Given the description of an element on the screen output the (x, y) to click on. 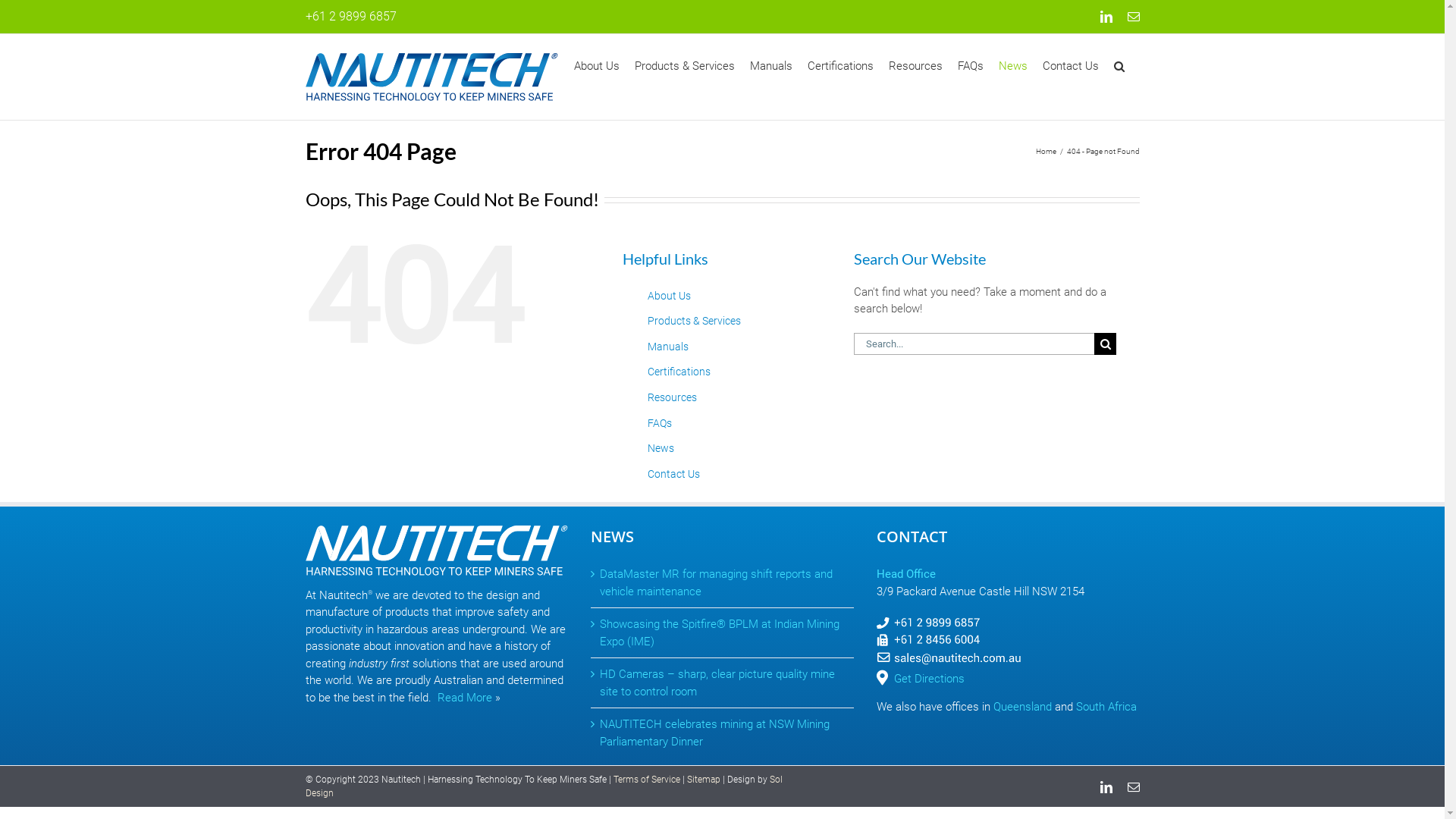
Certifications Element type: text (839, 65)
Home Element type: text (1045, 151)
News Element type: text (1011, 65)
Read More Element type: text (463, 697)
Resources Element type: text (915, 65)
Sitemap Element type: text (703, 779)
Head Office Element type: text (905, 573)
Manuals Element type: text (770, 65)
LinkedIn Element type: text (1105, 787)
Manuals Element type: text (667, 346)
Get Directions Element type: text (929, 678)
Products & Services Element type: text (693, 320)
FAQs Element type: text (659, 423)
FAQs Element type: text (969, 65)
Email Element type: text (1132, 16)
Terms of Service Element type: text (645, 779)
LinkedIn Element type: text (1105, 16)
About Us Element type: text (595, 65)
Queensland Element type: text (1022, 706)
Sol Design Element type: text (542, 786)
Contact Us Element type: text (1069, 65)
Email Element type: text (1132, 787)
News Element type: text (660, 448)
Resources Element type: text (671, 397)
Contact Us Element type: text (673, 473)
Search Element type: hover (1118, 65)
Products & Services Element type: text (683, 65)
South Africa Element type: text (1106, 706)
About Us Element type: text (668, 295)
Certifications Element type: text (678, 371)
